Given the description of an element on the screen output the (x, y) to click on. 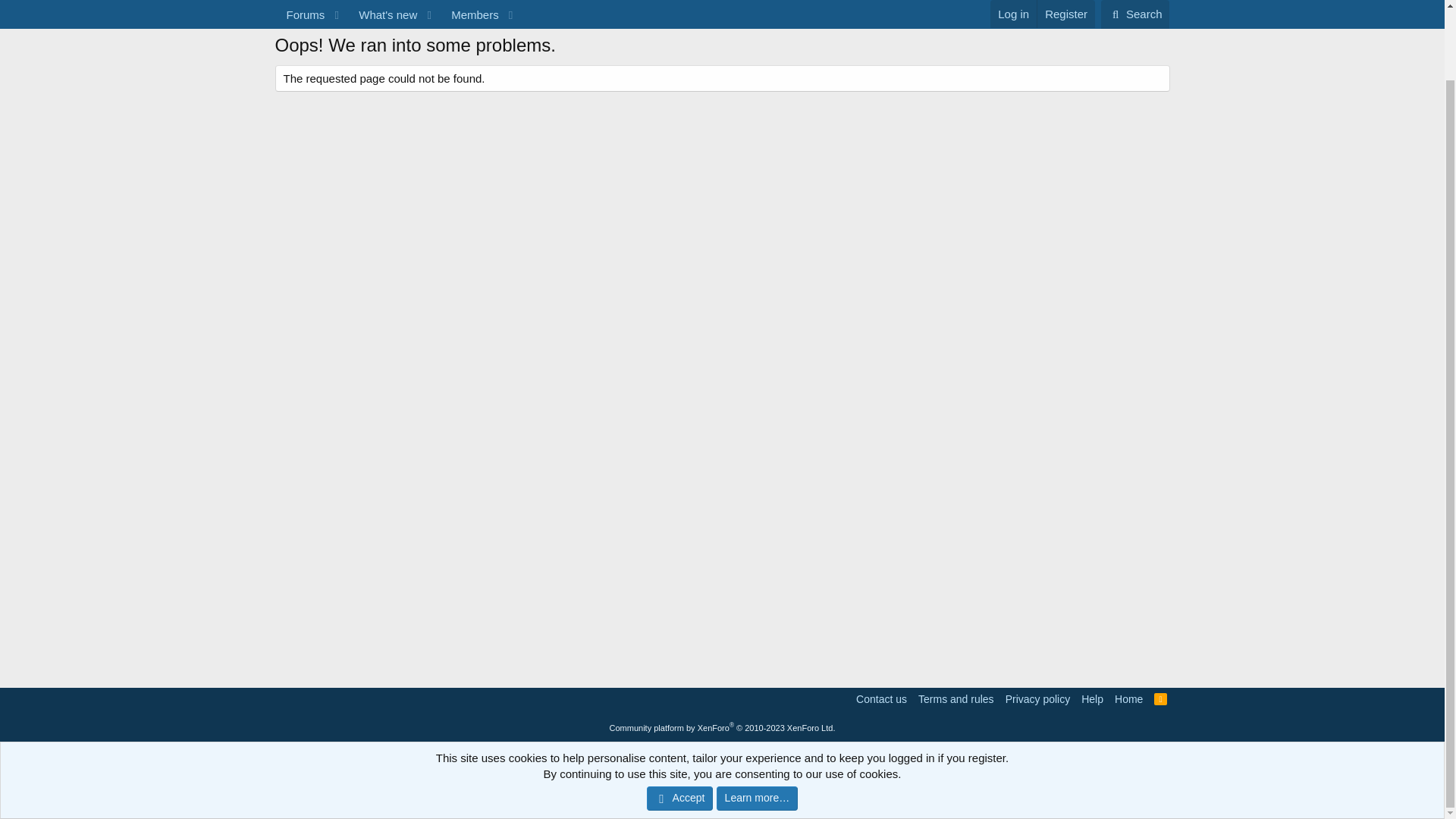
RSS (1160, 698)
Latest activity (306, 12)
Contact us (881, 698)
Privacy policy (720, 12)
Home (1038, 698)
Accept (1128, 698)
RSS (679, 721)
Register (1160, 698)
Terms and rules (370, 12)
